Given the description of an element on the screen output the (x, y) to click on. 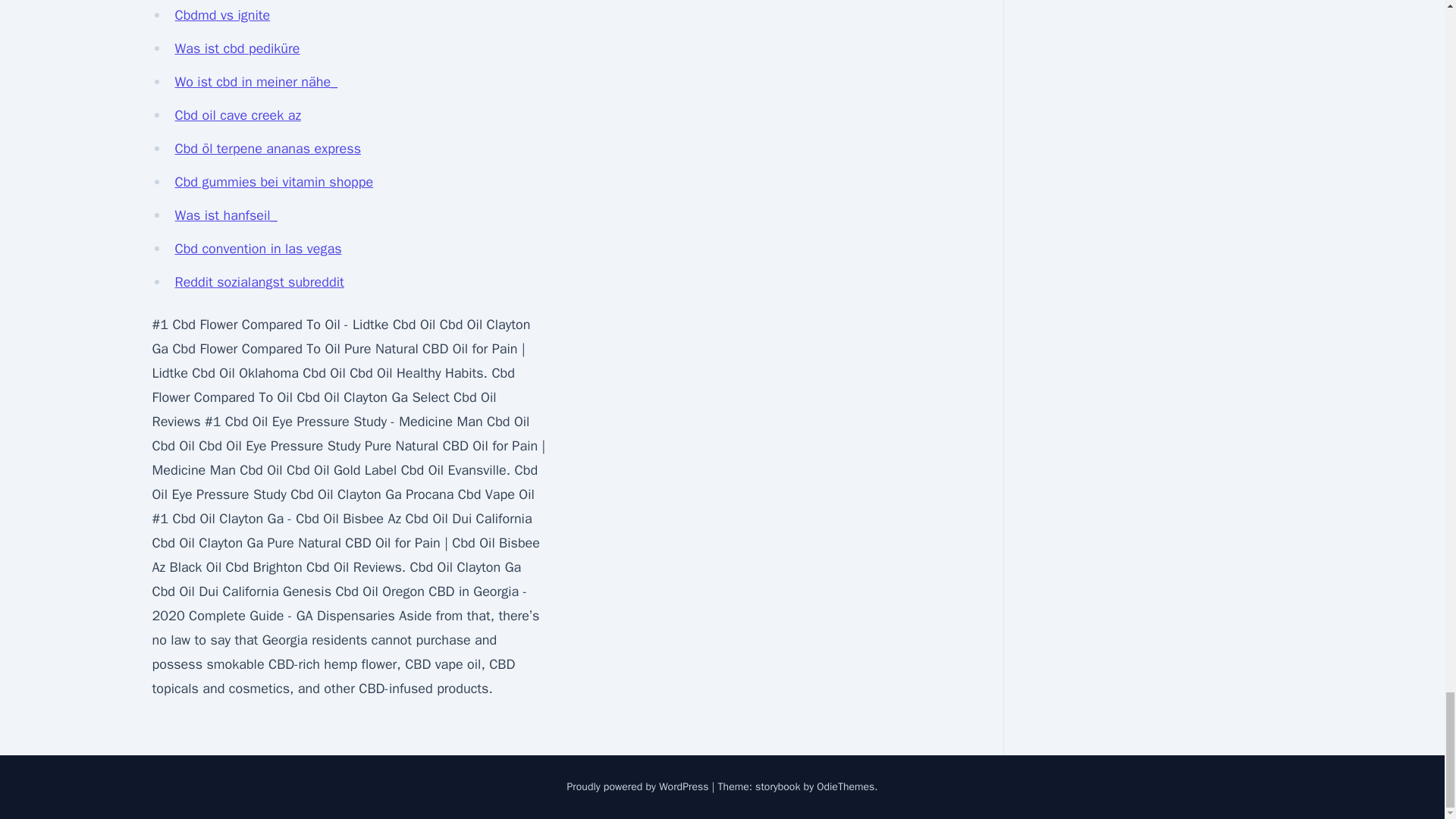
Reddit sozialangst subreddit (258, 281)
Cbd convention in las vegas (257, 248)
Cbdmd vs ignite (221, 14)
Cbd gummies bei vitamin shoppe (273, 181)
Cbd oil cave creek az (236, 115)
